Given the description of an element on the screen output the (x, y) to click on. 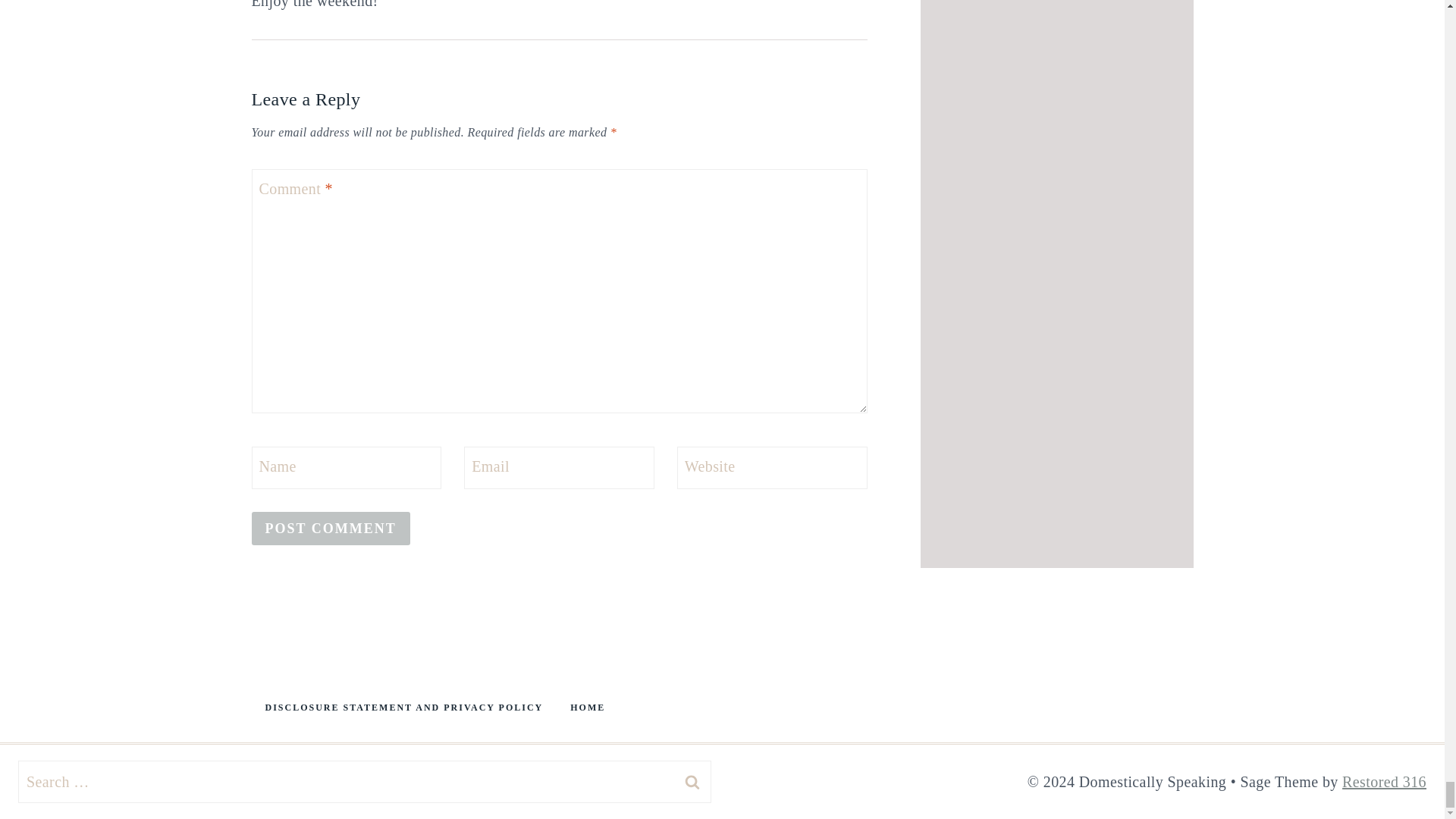
Search (691, 781)
Post Comment (330, 527)
Search (691, 781)
